Given the description of an element on the screen output the (x, y) to click on. 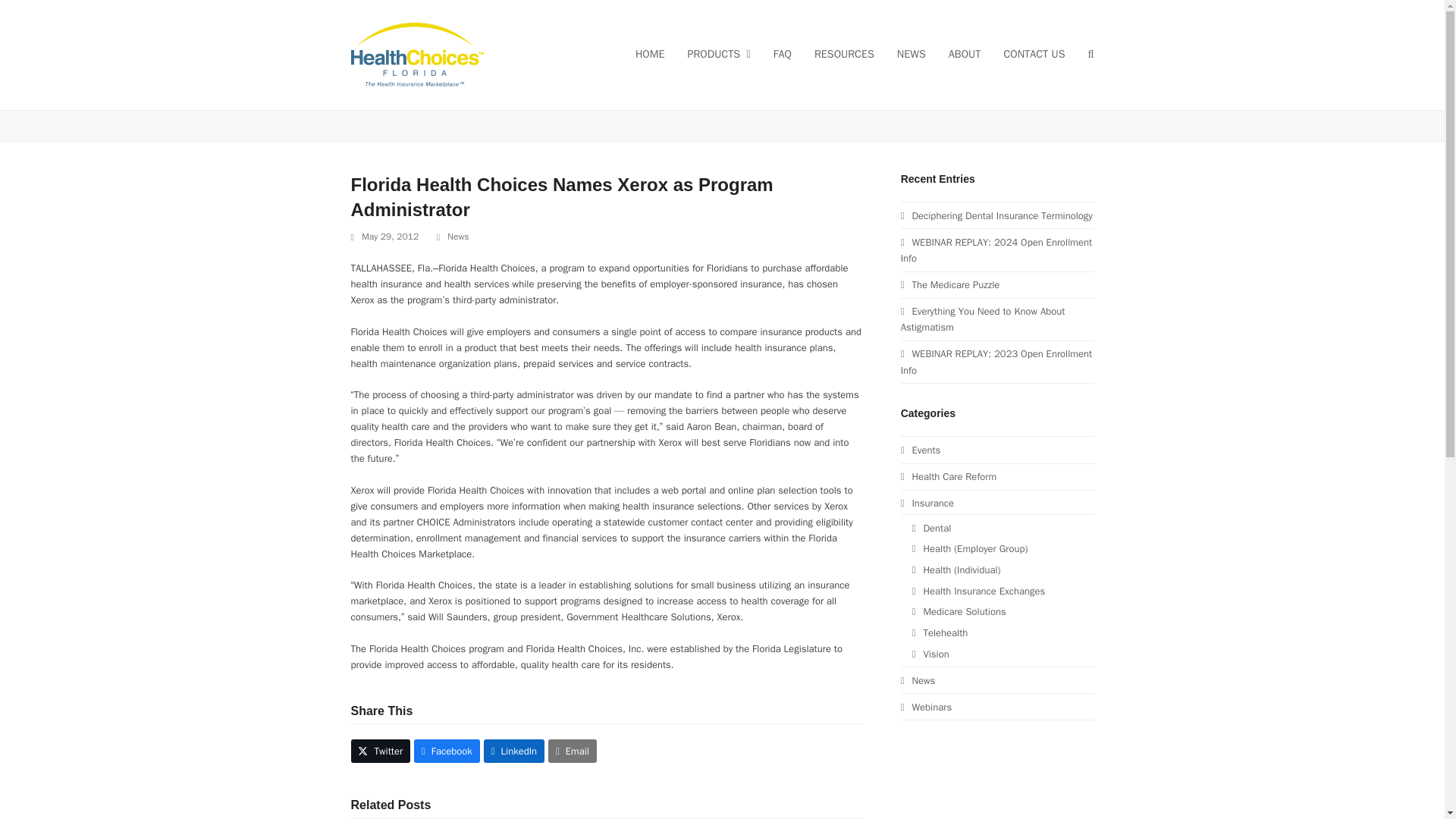
Health Care Reform (948, 476)
Deciphering Dental Insurance Terminology (997, 215)
Everything You Need to Know About Astigmatism (983, 318)
LinkedIn (513, 750)
FAQ (782, 54)
HOME (650, 54)
RESOURCES (844, 54)
PRODUCTS (718, 54)
Events (920, 449)
WEBINAR REPLAY: 2023 Open Enrollment Info (996, 361)
